Given the description of an element on the screen output the (x, y) to click on. 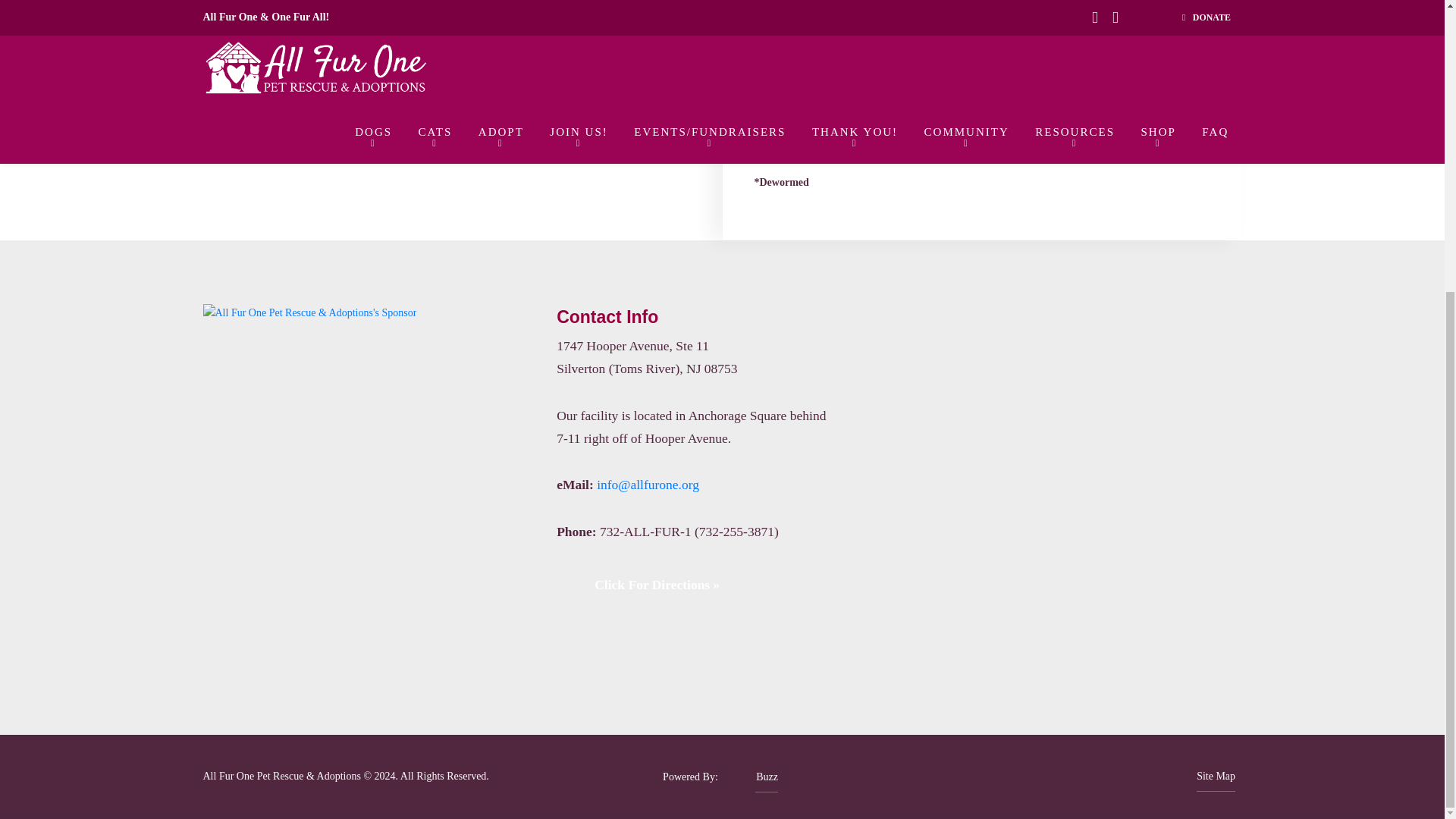
Clarissa (405, 101)
Click For Directions (647, 584)
eMail Address (647, 484)
Clarissa (462, 33)
Clarissa (291, 101)
Clarissa (519, 92)
Clarissa (632, 92)
Clarissa (576, 92)
Clarissa (462, 92)
Clarissa (348, 101)
